Given the description of an element on the screen output the (x, y) to click on. 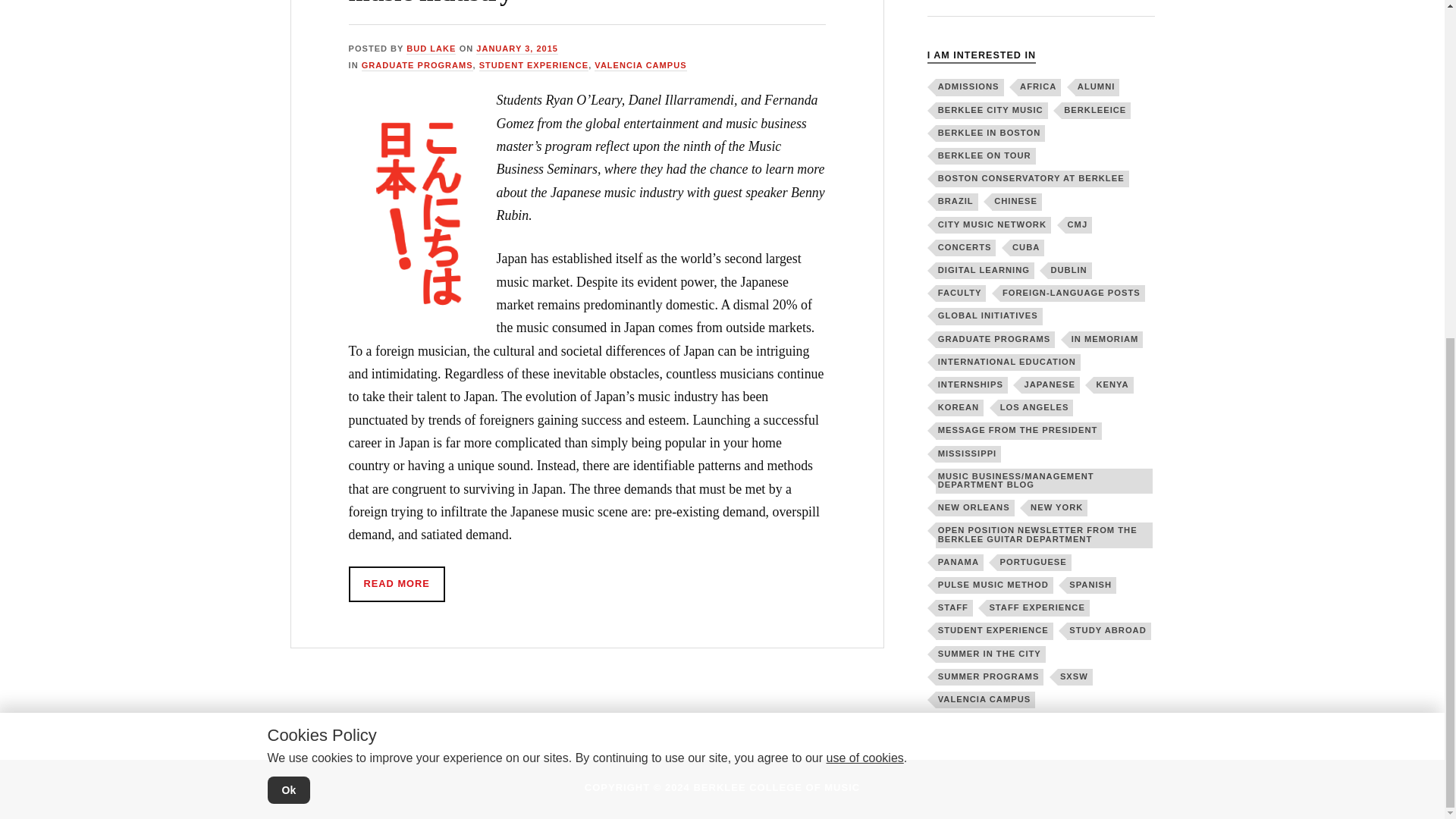
CMJ (1079, 225)
BERKLEE ON TOUR (985, 156)
READ MORE (397, 583)
BUD LAKE (430, 49)
CHINESE (1016, 201)
JANUARY 3, 2015 (516, 49)
BRAZIL (957, 201)
BERKLEEICE (1096, 110)
ALUMNI (1097, 86)
GRADUATE PROGRAMS (417, 65)
